Given the description of an element on the screen output the (x, y) to click on. 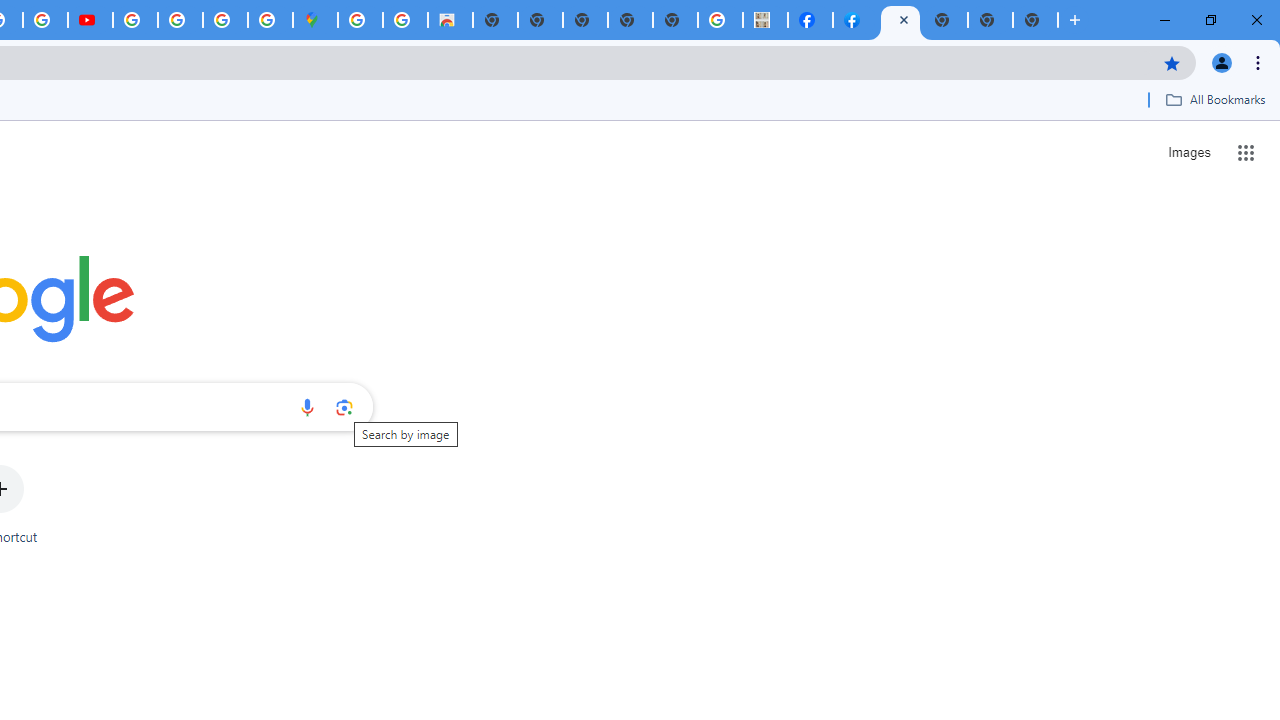
MILEY CYRUS. (765, 20)
New Tab (1035, 20)
How Chrome protects your passwords - Google Chrome Help (134, 20)
Google Maps (315, 20)
Sign Up for Facebook (855, 20)
